Given the description of an element on the screen output the (x, y) to click on. 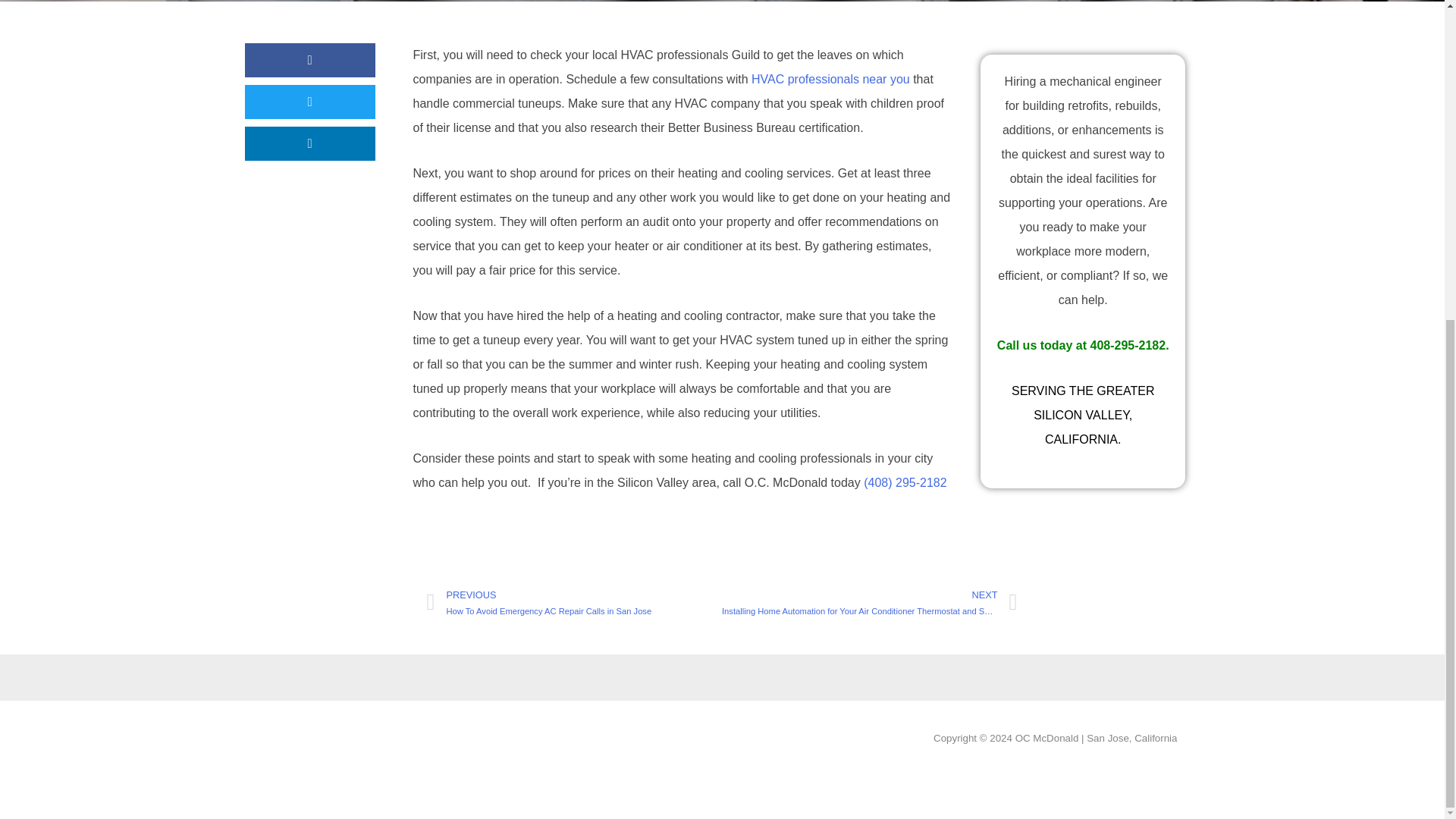
HVAC professionals near you (830, 78)
